Given the description of an element on the screen output the (x, y) to click on. 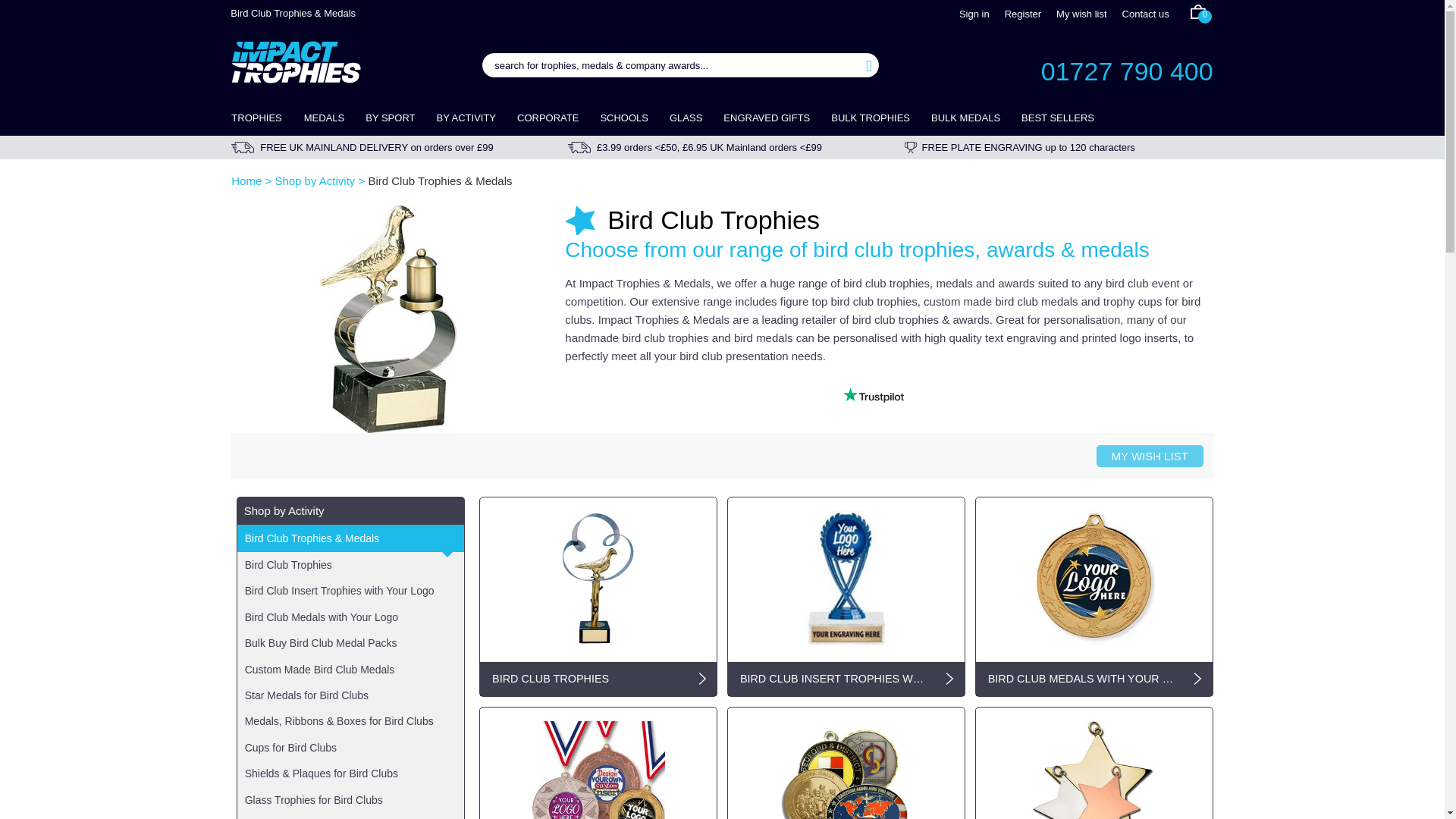
Home (246, 180)
CORPORATE (547, 117)
0 (1201, 16)
Customer reviews powered by Trustpilot (873, 394)
BY ACTIVITY (466, 117)
Register (1022, 14)
BEST SELLERS (1052, 117)
BULK MEDALS (965, 117)
Bird Club Insert Trophies with Your Logo (833, 678)
BULK TROPHIES (870, 117)
Bird Club Medals with Your Logo (1093, 573)
My wish list (1081, 14)
Bird Club Trophies (584, 678)
Bird Club Insert Trophies with Your Logo (846, 573)
TROPHIES (261, 117)
